Given the description of an element on the screen output the (x, y) to click on. 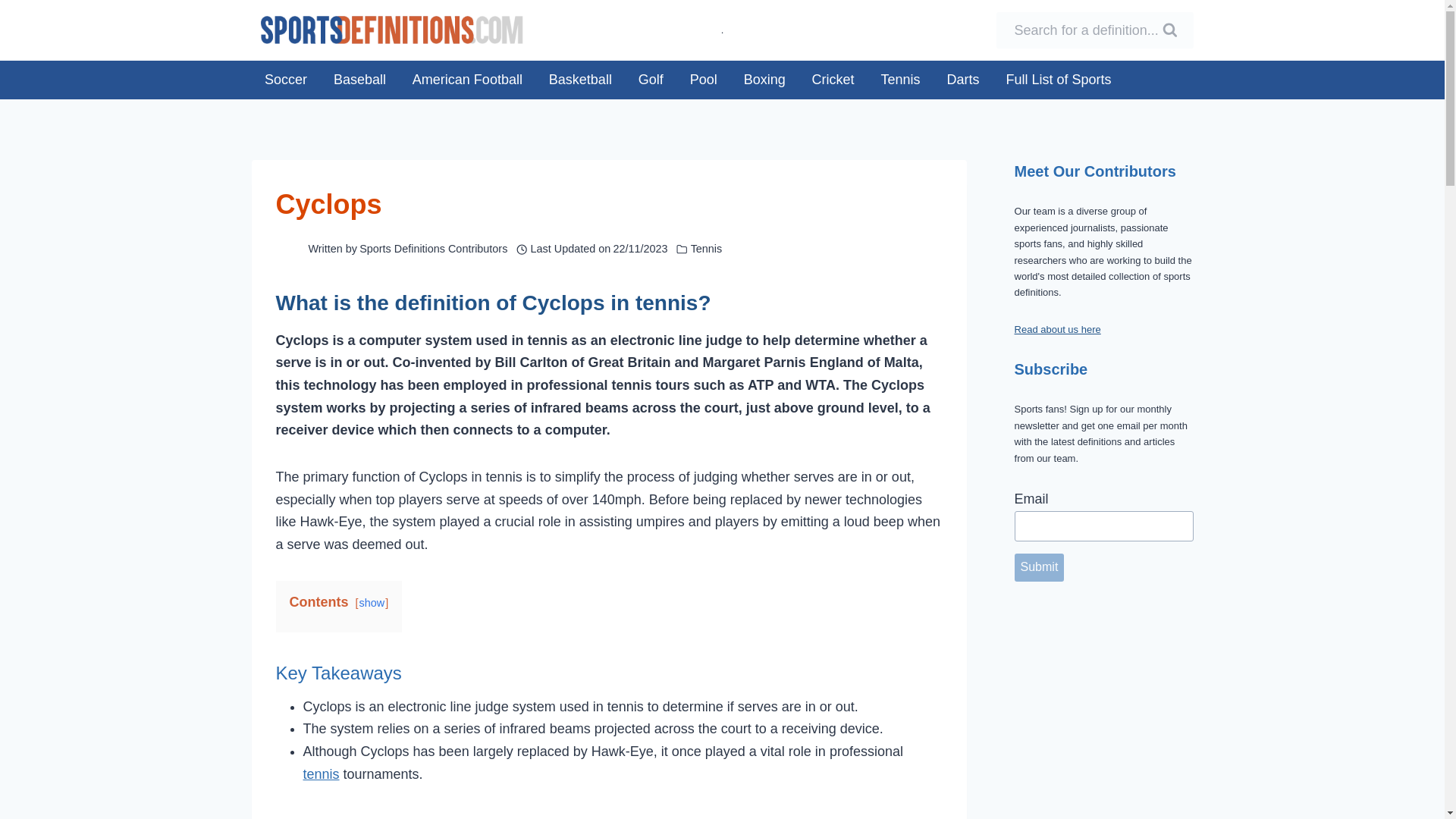
Sports Definitions Contributors (432, 248)
Golf (650, 79)
Baseball (359, 79)
Search for a definition... (1094, 30)
Tennis (900, 79)
show (372, 603)
Full List of Sports (1058, 79)
Soccer (285, 79)
Cricket (832, 79)
tennis (320, 774)
American Football (466, 79)
Darts (962, 79)
Boxing (763, 79)
Pool (703, 79)
Basketball (579, 79)
